Given the description of an element on the screen output the (x, y) to click on. 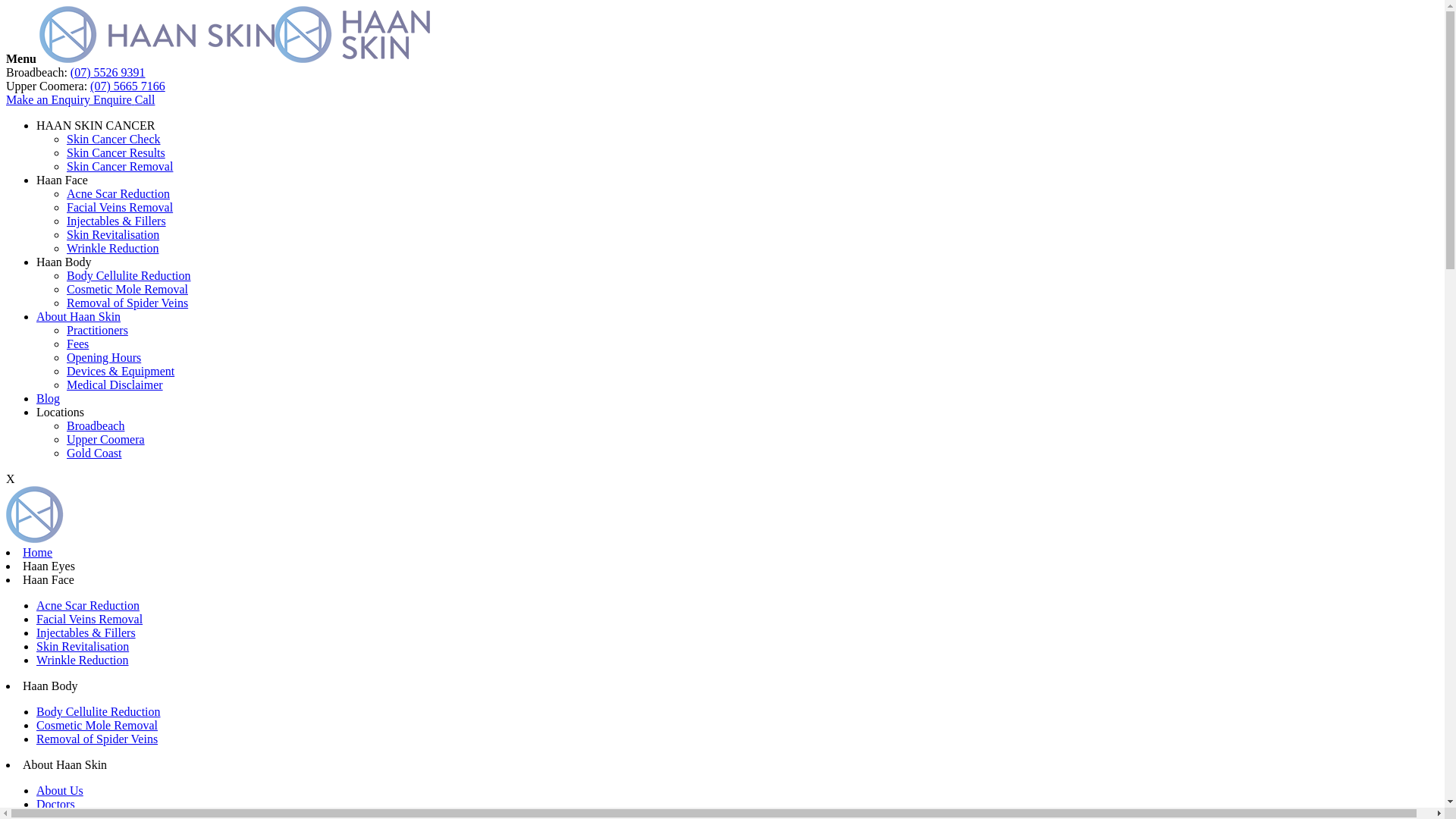
(07) 5665 7166 Element type: text (127, 85)
Blog Element type: text (47, 398)
Locations Element type: text (60, 411)
Home Element type: text (37, 552)
Removal of Spider Veins Element type: text (96, 738)
Facial Veins Removal Element type: text (89, 618)
Removal of Spider Veins Element type: text (127, 302)
Haan Body Element type: text (63, 261)
(07) 5526 9391 Element type: text (107, 71)
Injectables & Fillers Element type: text (85, 632)
Haan Eyes Element type: text (48, 565)
Call Element type: text (144, 99)
Skin Cancer Results Element type: text (115, 152)
Acne Scar Reduction Element type: text (117, 193)
Haan Body Element type: text (49, 685)
HAAN SKIN CANCER Element type: text (95, 125)
Skin Cancer Removal Element type: text (119, 166)
About Haan Skin Element type: text (64, 764)
Injectables & Fillers Element type: text (116, 220)
Acne Scar Reduction Element type: text (87, 605)
haan-skin-logo-reverse Element type: hover (123, 514)
Haan Face Element type: text (48, 579)
Skin Cancer Check Element type: text (113, 138)
Menu Element type: text (21, 58)
Medical Disclaimer Element type: text (114, 384)
About Haan Skin Element type: text (78, 316)
Cosmetic Mole Removal Element type: text (127, 288)
Fees Element type: text (77, 343)
Body Cellulite Reduction Element type: text (128, 275)
Doctors Element type: text (55, 803)
Devices & Equipment Element type: text (120, 370)
Haan Face Element type: text (61, 179)
Gold Coast Element type: text (93, 452)
Body Cellulite Reduction Element type: text (98, 711)
Skin Revitalisation Element type: text (112, 234)
About Us Element type: text (59, 790)
Broadbeach Element type: text (95, 425)
haan-skin-logo Element type: hover (156, 34)
Facial Veins Removal Element type: text (119, 206)
Opening Hours Element type: text (103, 357)
Cosmetic Mole Removal Element type: text (96, 724)
haan-skin-logo-mobile Element type: hover (351, 34)
Skin Revitalisation Element type: text (82, 646)
Practitioners Element type: text (97, 329)
Wrinkle Reduction Element type: text (112, 247)
Make an Enquiry Enquire Element type: text (70, 99)
Upper Coomera Element type: text (105, 439)
Wrinkle Reduction Element type: text (82, 659)
